Given the description of an element on the screen output the (x, y) to click on. 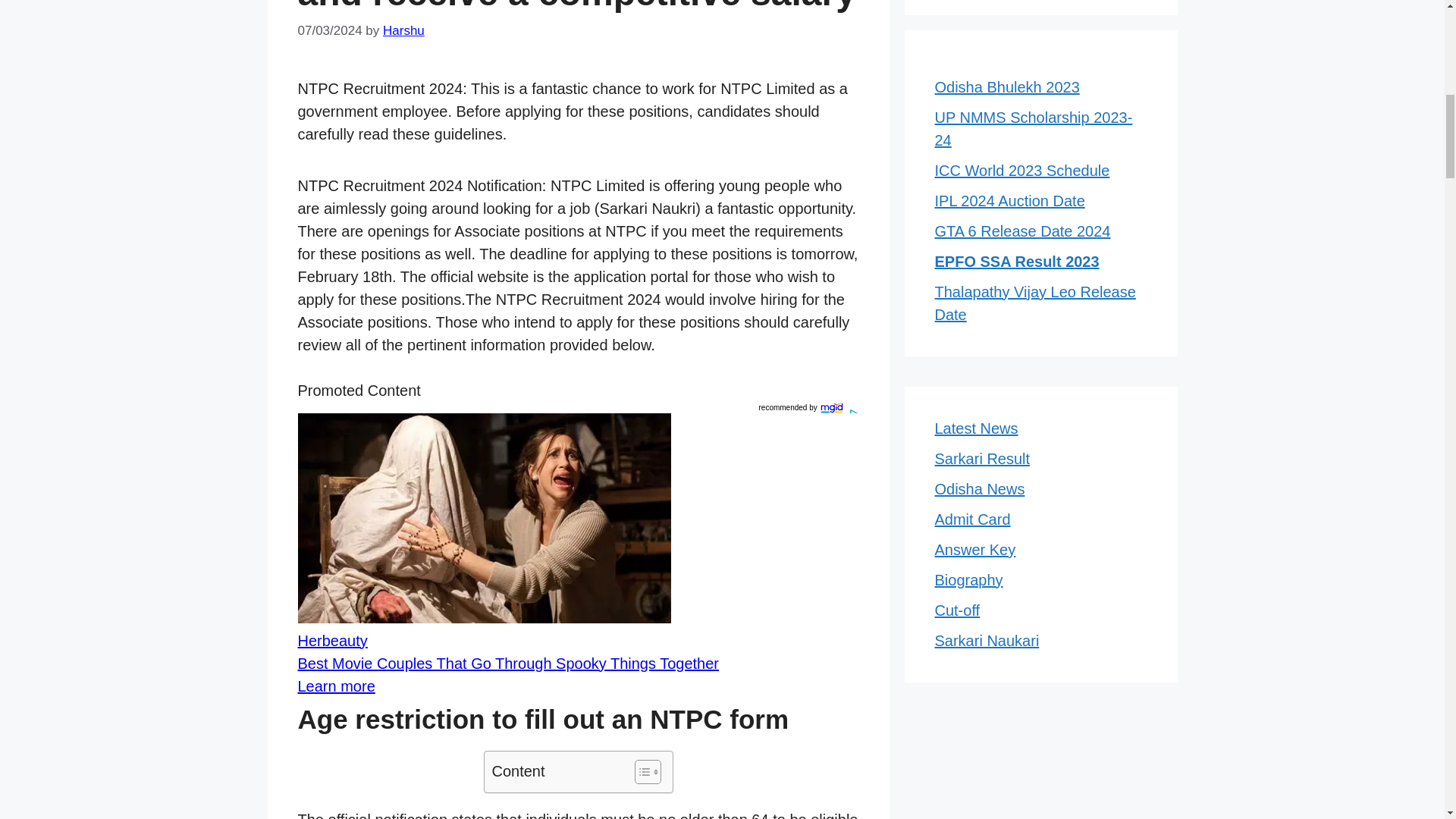
GTA 6 Release Date 2024 (1021, 230)
Odisha Bhulekh 2023 (1006, 86)
Thalapathy Vijay Leo Release Date (1034, 302)
UP NMMS Scholarship 2023-24 (1033, 128)
EPFO SSA Result 2023 (1016, 261)
ICC World 2023 Schedule (1021, 170)
Harshu (403, 30)
View all posts by Harshu (403, 30)
IPL 2024 Auction Date (1009, 200)
